Given the description of an element on the screen output the (x, y) to click on. 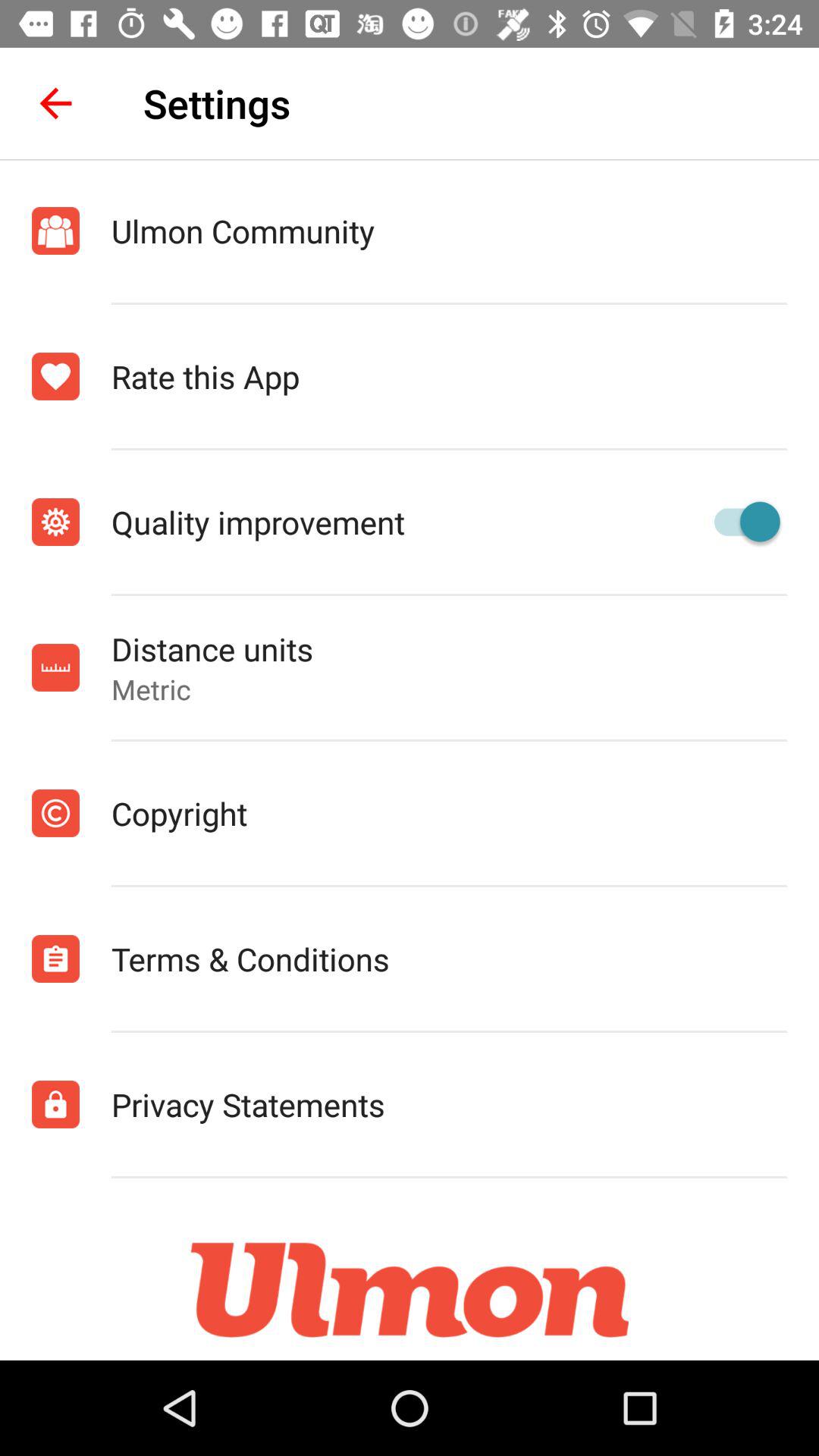
toggle quality improvement option (739, 521)
